Given the description of an element on the screen output the (x, y) to click on. 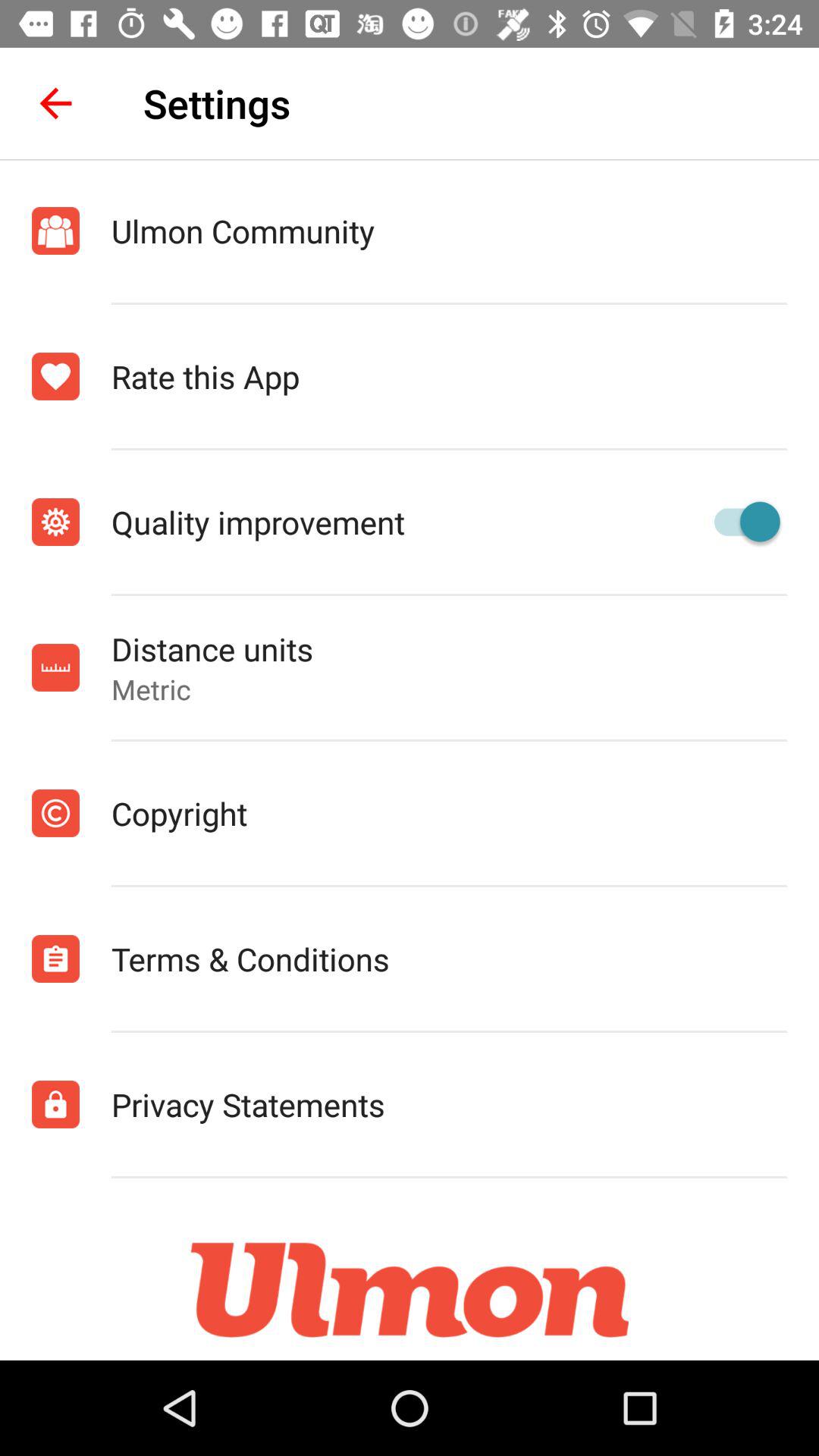
toggle quality improvement option (739, 521)
